Given the description of an element on the screen output the (x, y) to click on. 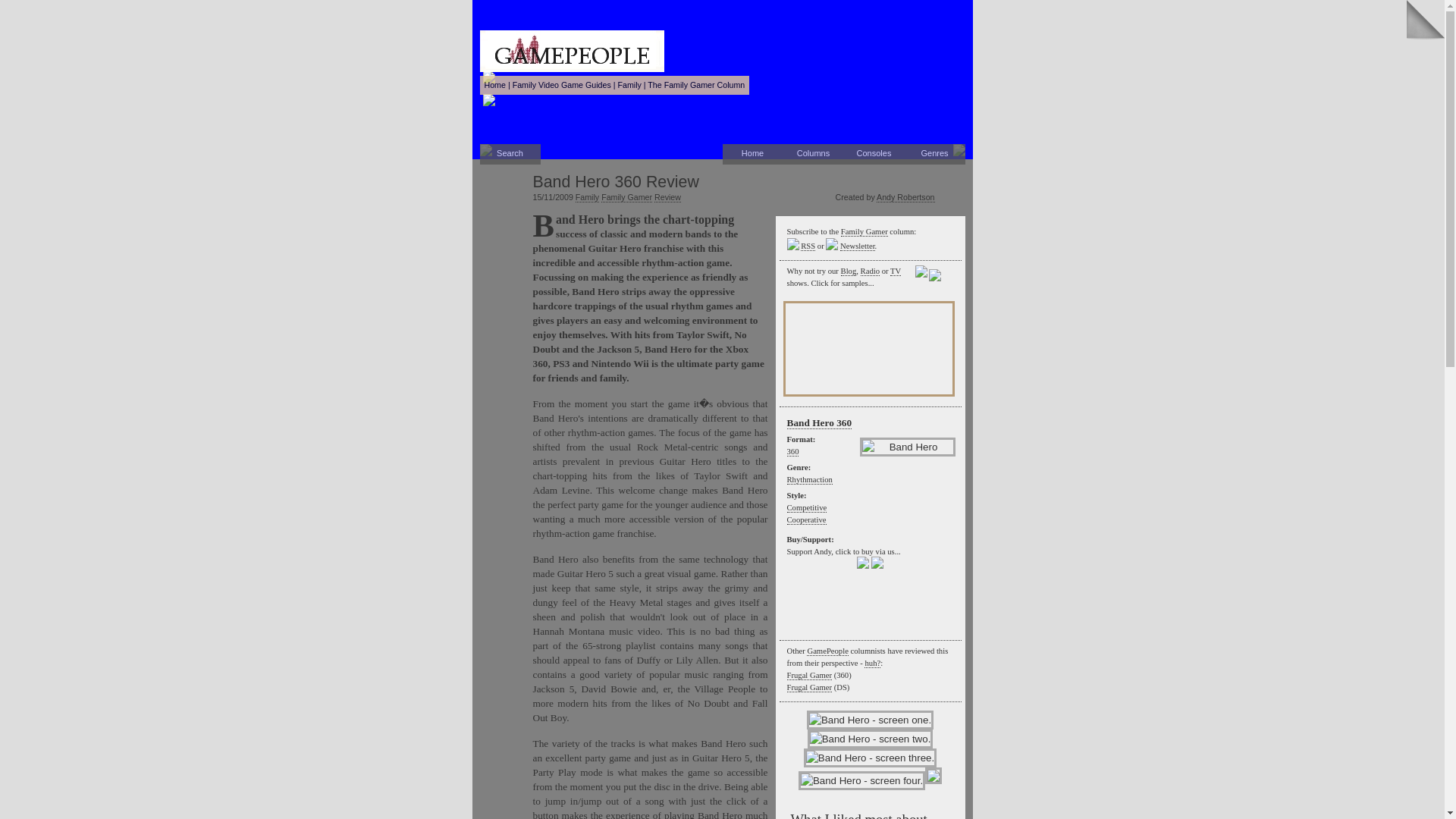
Band Hero - screen three. (869, 757)
Search (509, 154)
Group (628, 84)
Band Hero - screen one. (869, 719)
Family Gamer (626, 197)
Family (628, 84)
Home (752, 154)
Play-style (807, 507)
Band Hero - screen two. (870, 738)
Family Video Game Guides (561, 84)
